Given the description of an element on the screen output the (x, y) to click on. 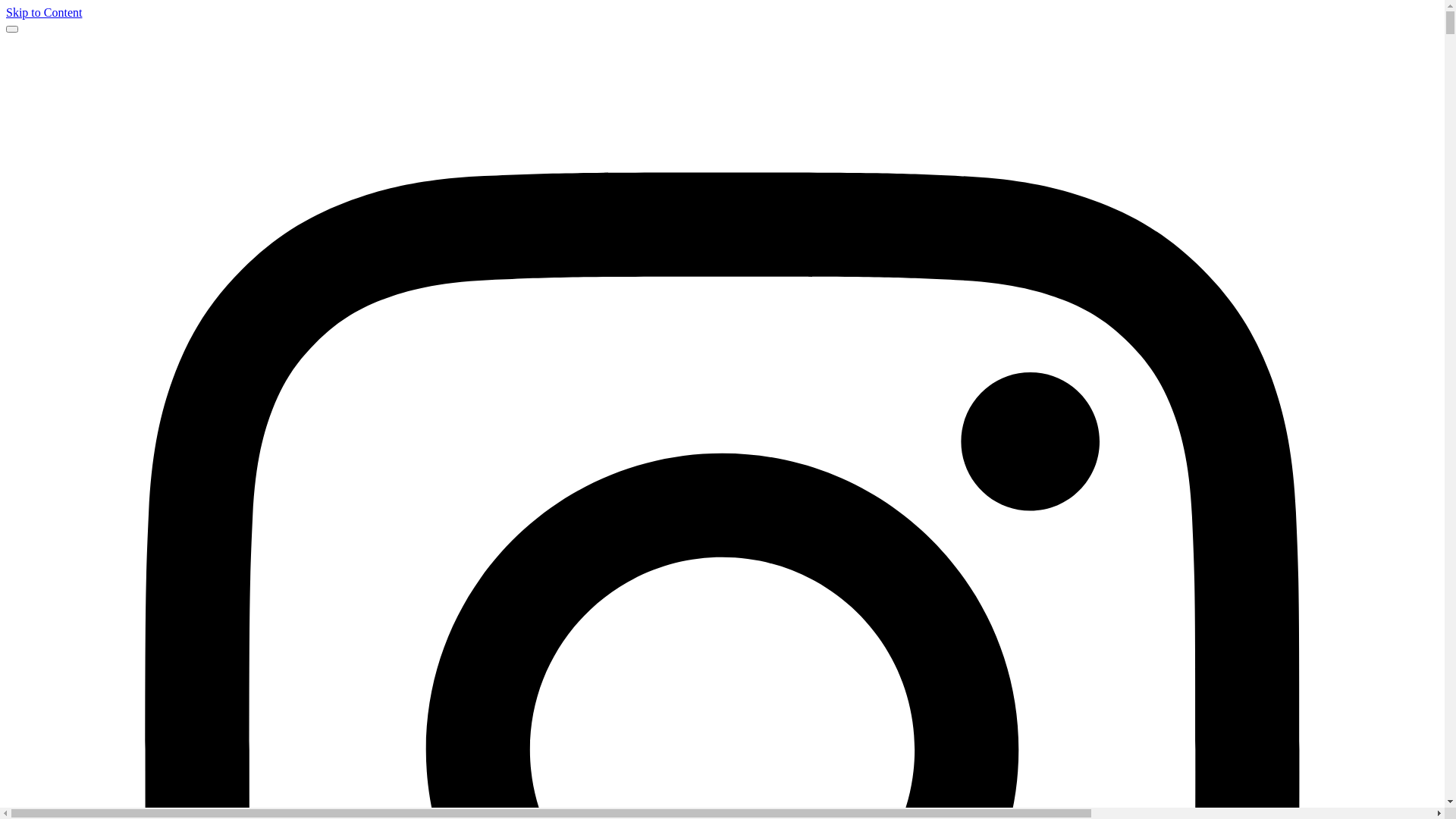
Skip to Content Element type: text (43, 12)
